Given the description of an element on the screen output the (x, y) to click on. 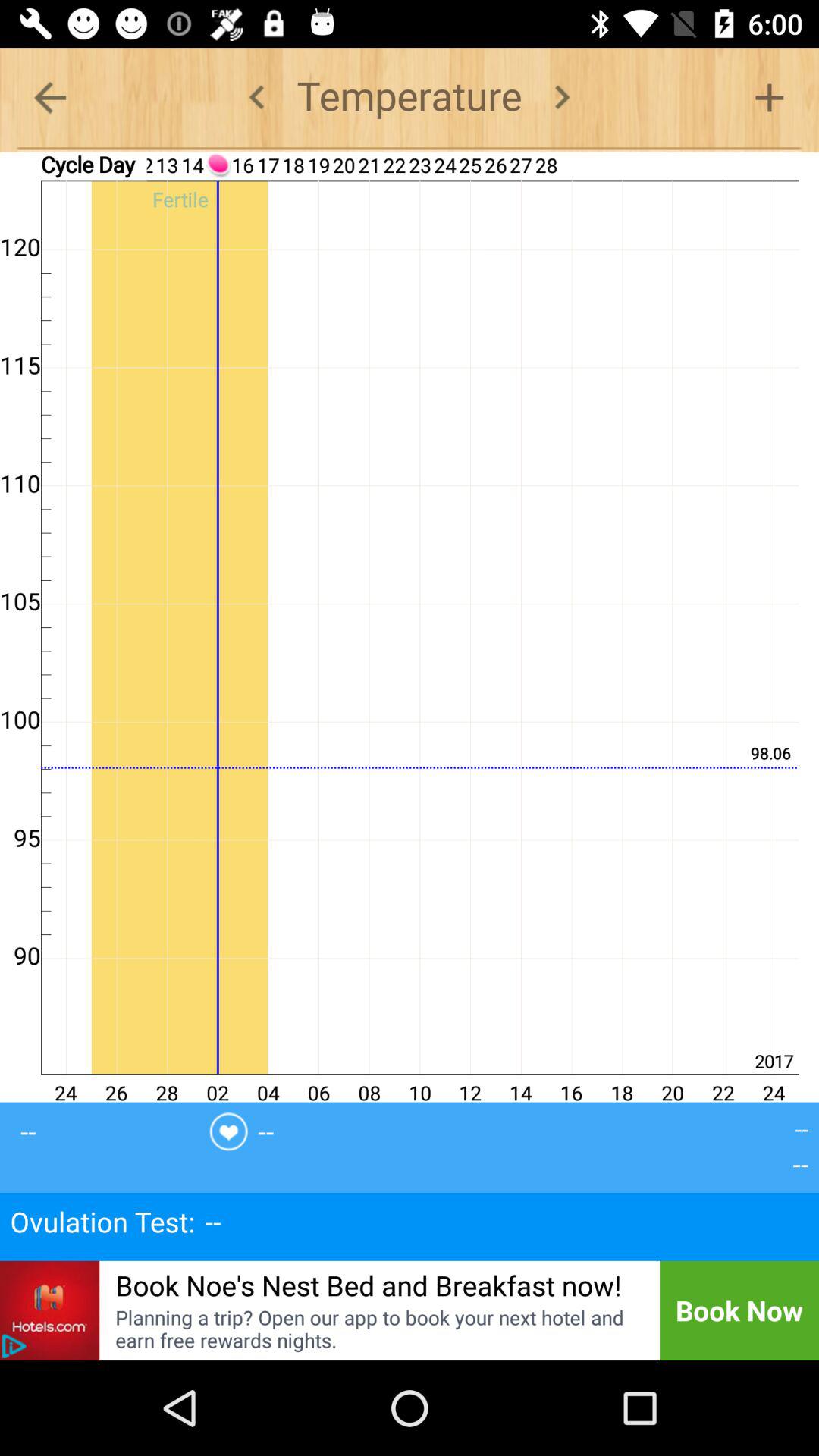
press the item to the left of the book noe s (49, 1310)
